Given the description of an element on the screen output the (x, y) to click on. 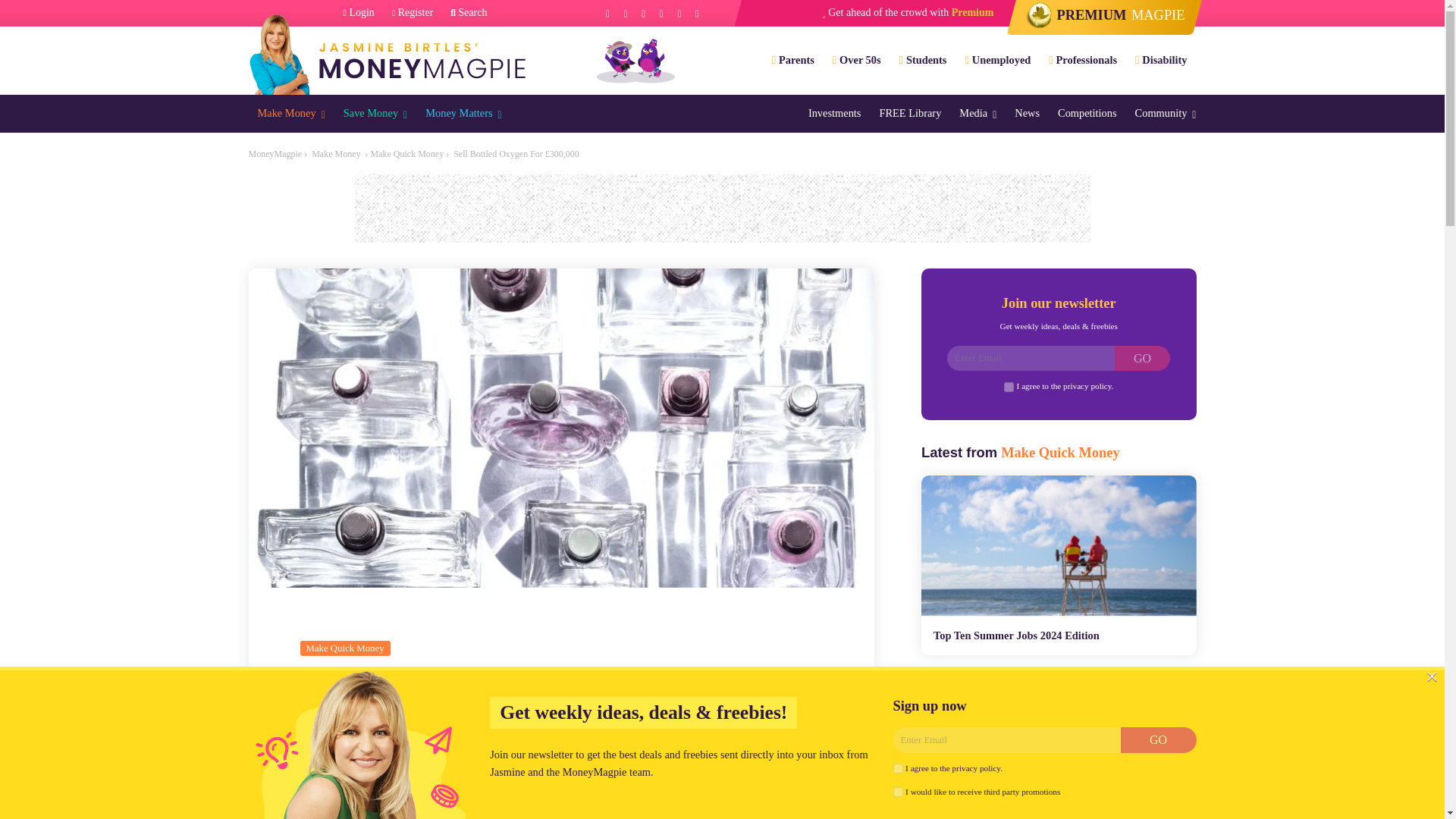
1 (897, 791)
1 (897, 768)
Register (412, 12)
Login (358, 12)
Go to the Make Quick Money category archives. (406, 153)
Go to MoneyMagpie. (275, 153)
1 (1008, 387)
Search (467, 12)
